Given the description of an element on the screen output the (x, y) to click on. 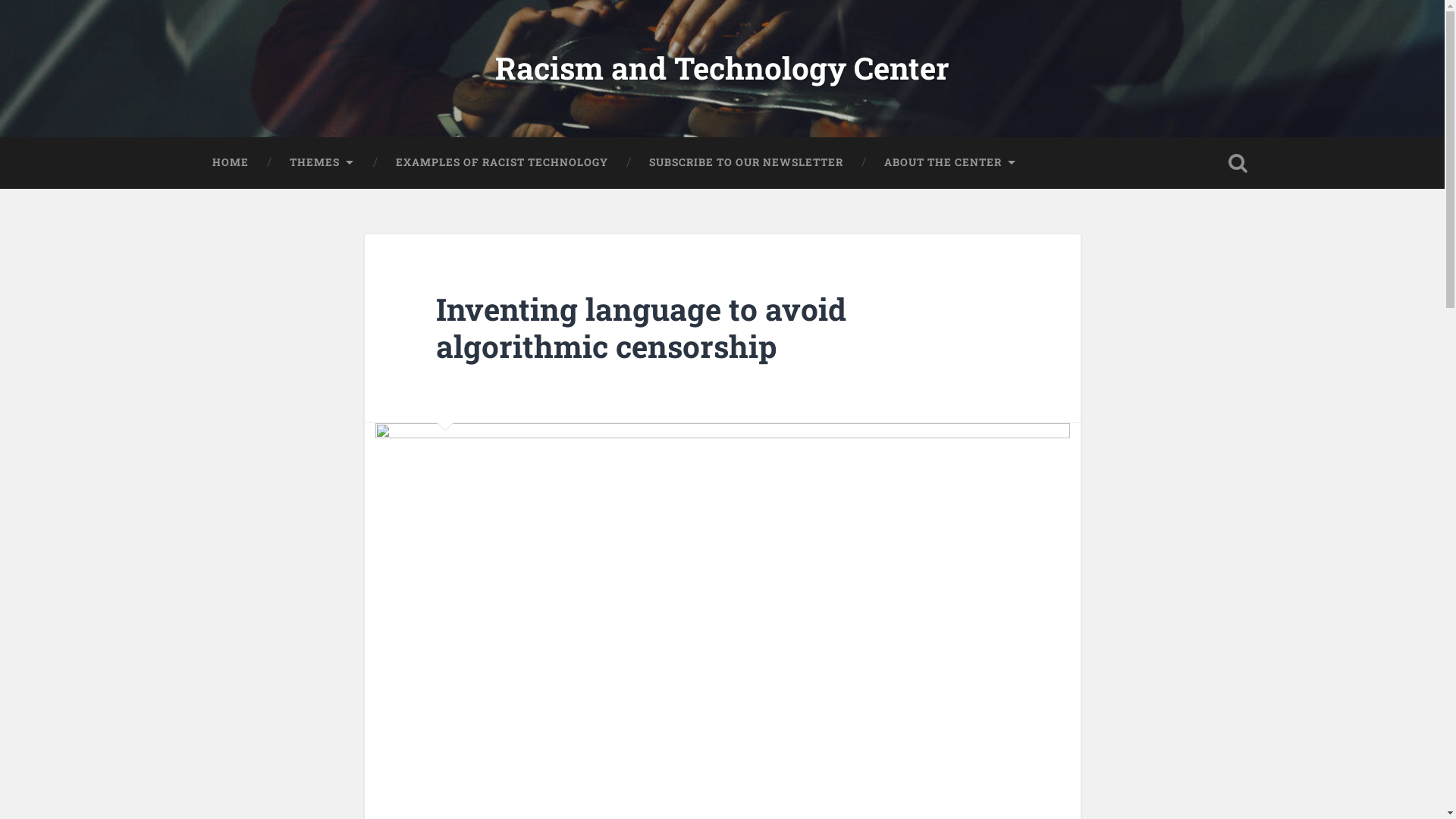
Open Search Element type: text (1237, 162)
Racism and Technology Center Element type: text (722, 67)
THEMES Element type: text (321, 162)
ABOUT THE CENTER Element type: text (949, 162)
Inventing language to avoid algorithmic censorship Element type: text (641, 327)
SUBSCRIBE TO OUR NEWSLETTER Element type: text (744, 162)
EXAMPLES OF RACIST TECHNOLOGY Element type: text (500, 162)
HOME Element type: text (229, 162)
